Given the description of an element on the screen output the (x, y) to click on. 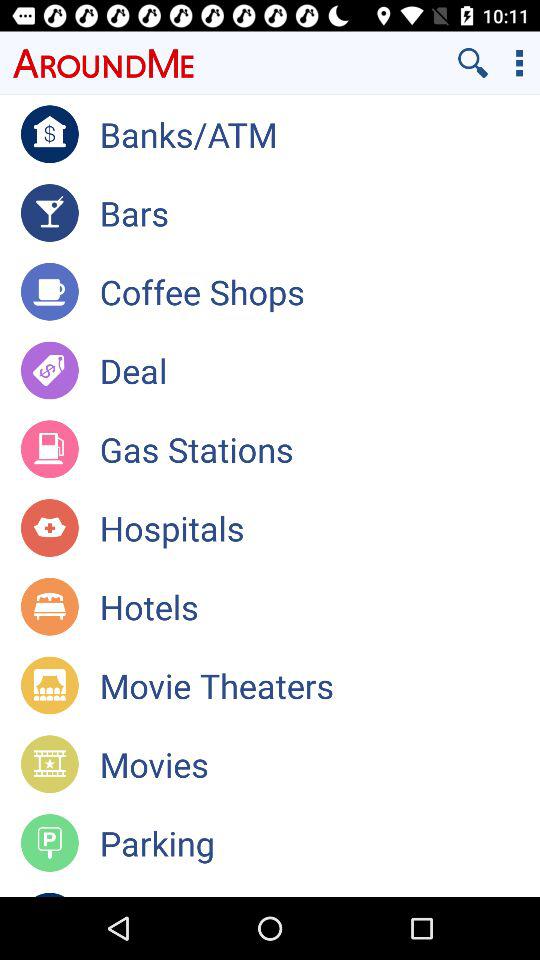
turn off the hotels (319, 606)
